Given the description of an element on the screen output the (x, y) to click on. 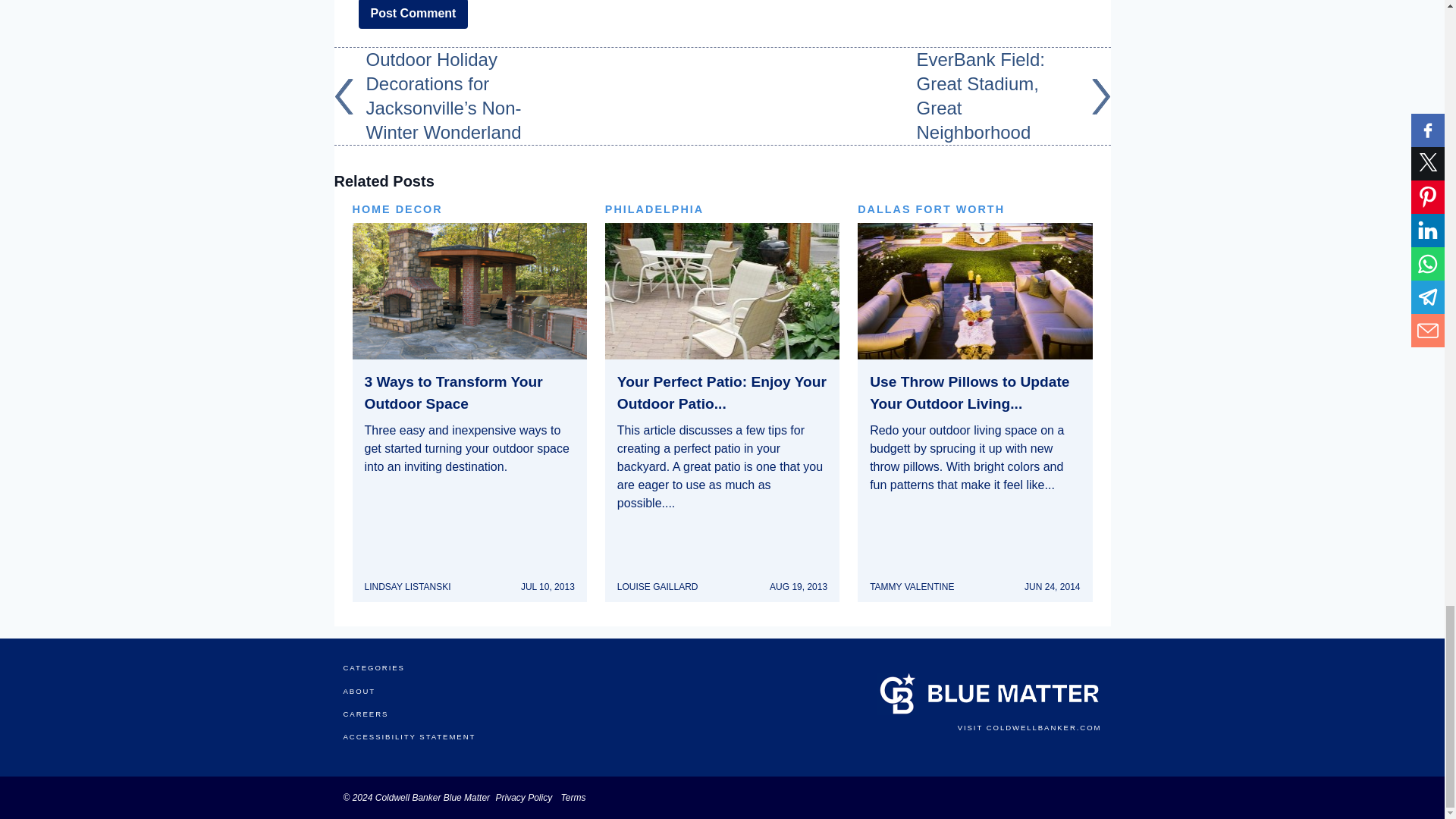
Posts by Tammy Valentine (911, 586)
Posts by Lindsay Listanski (406, 586)
Posts by Louise Gaillard (657, 586)
Post Comment (412, 14)
LINDSAY LISTANSKI (406, 586)
Post Comment (412, 14)
EverBank Field: Great Stadium, Great Neighborhood (1012, 95)
HOME DECOR (469, 210)
EverBank Field: Great Stadium, Great Neighborhood (1012, 95)
